Given the description of an element on the screen output the (x, y) to click on. 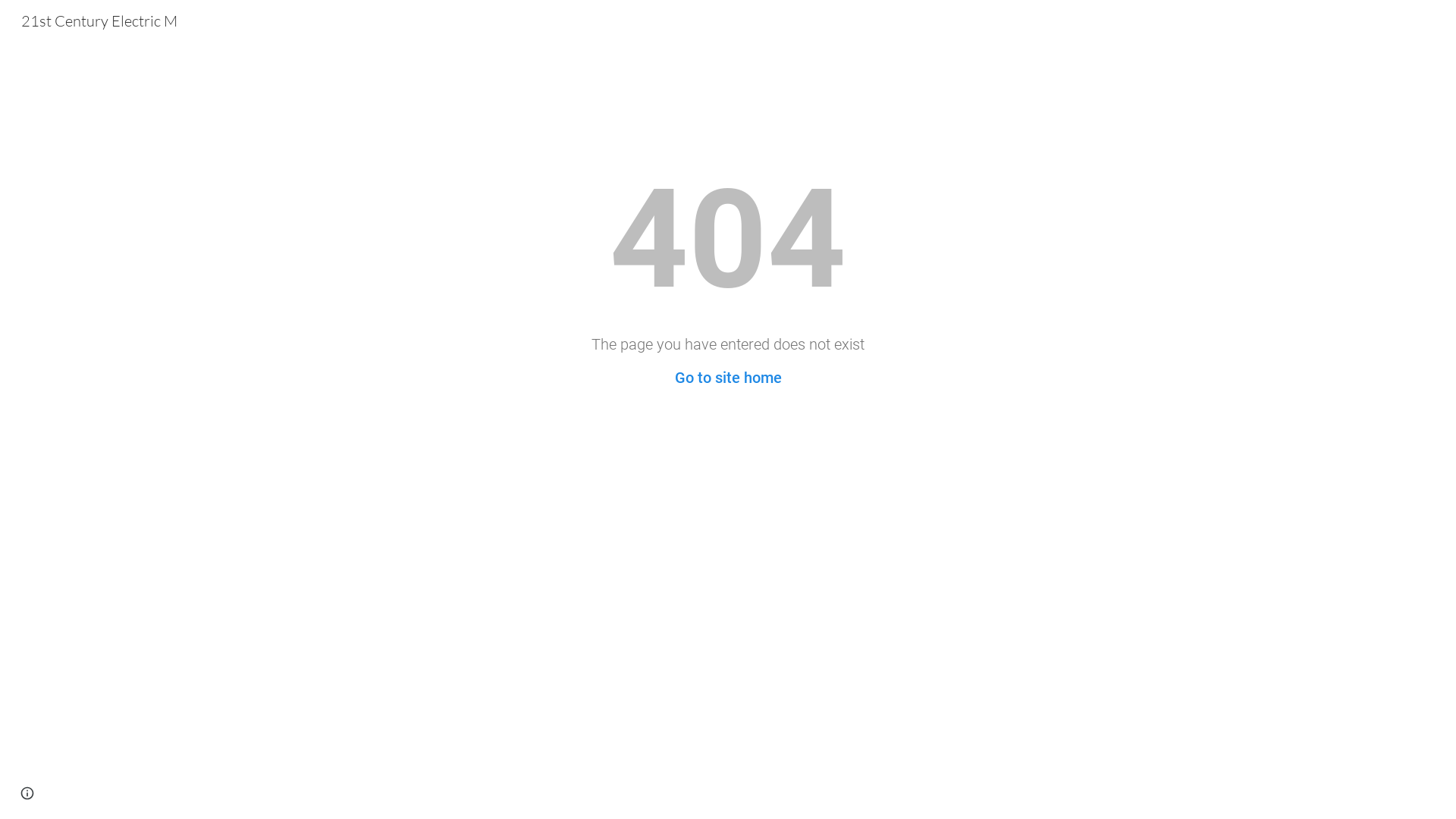
21st Century Electric M Element type: text (99, 18)
Go to site home Element type: text (727, 377)
